Given the description of an element on the screen output the (x, y) to click on. 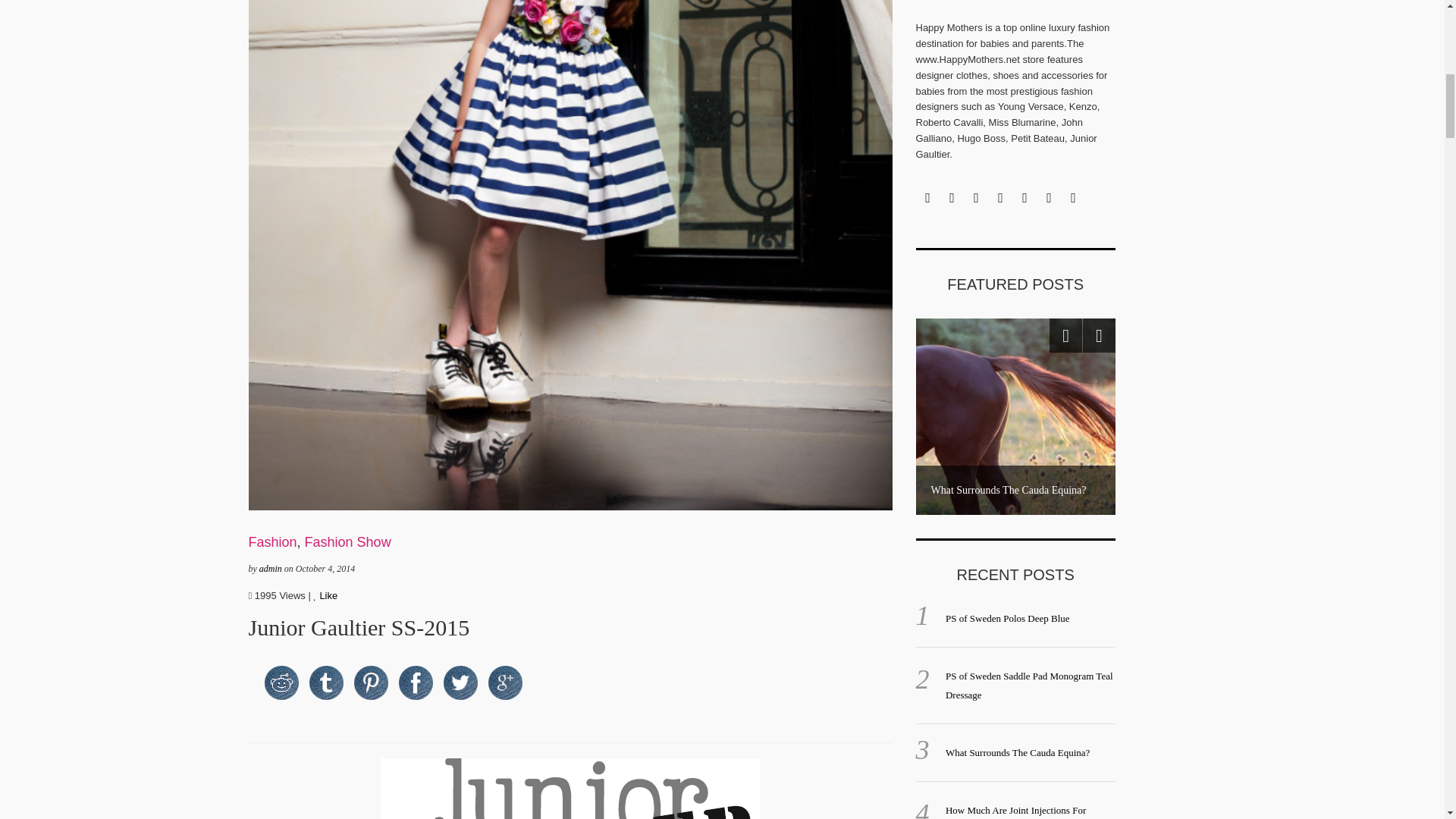
Pinterest (370, 682)
Facebook (416, 682)
tumblr (325, 682)
Like (325, 595)
Reddit (280, 682)
Twitter (459, 682)
